Given the description of an element on the screen output the (x, y) to click on. 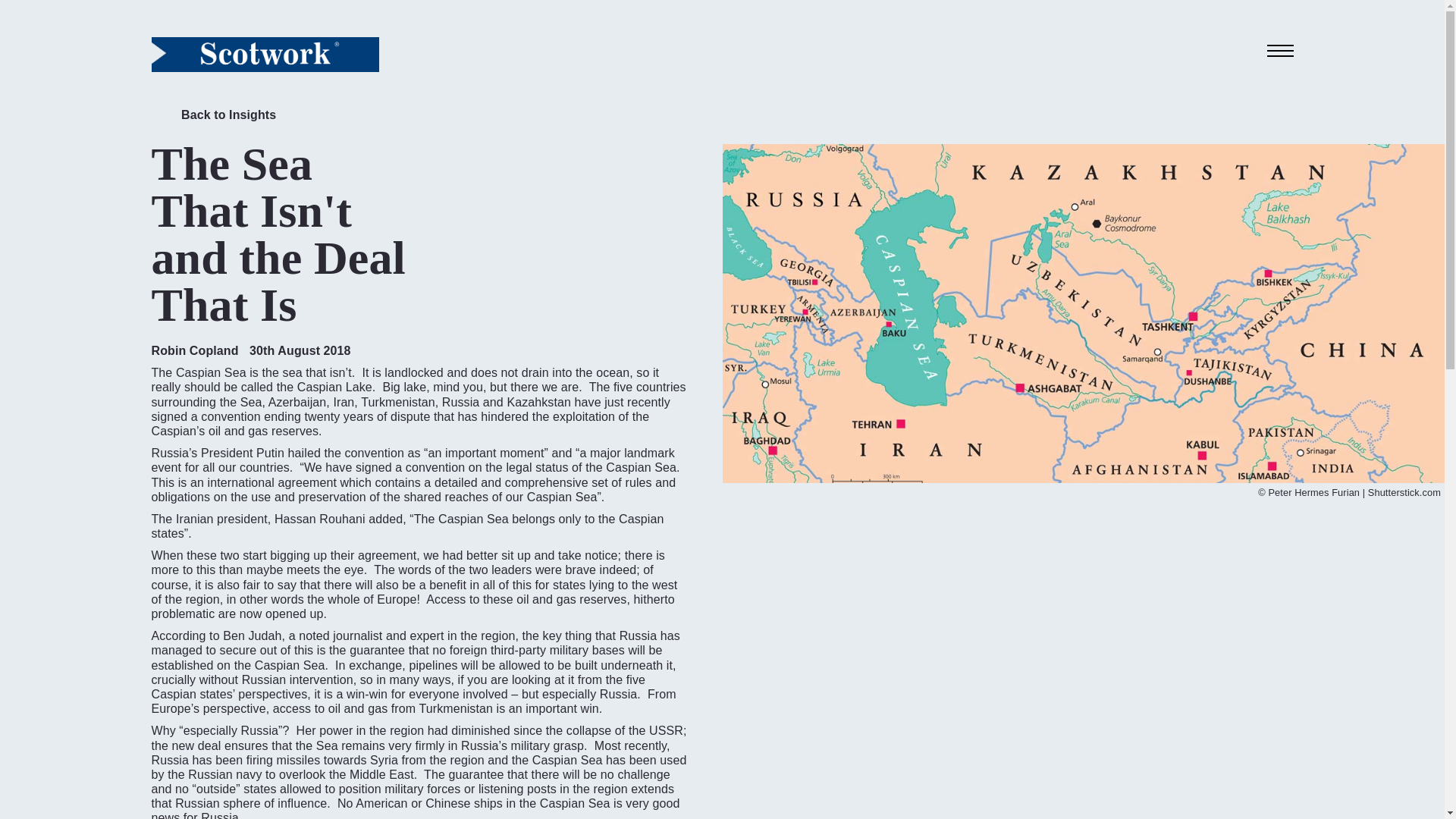
home (264, 54)
Back to Insights (213, 117)
Back to Insights (213, 117)
